Given the description of an element on the screen output the (x, y) to click on. 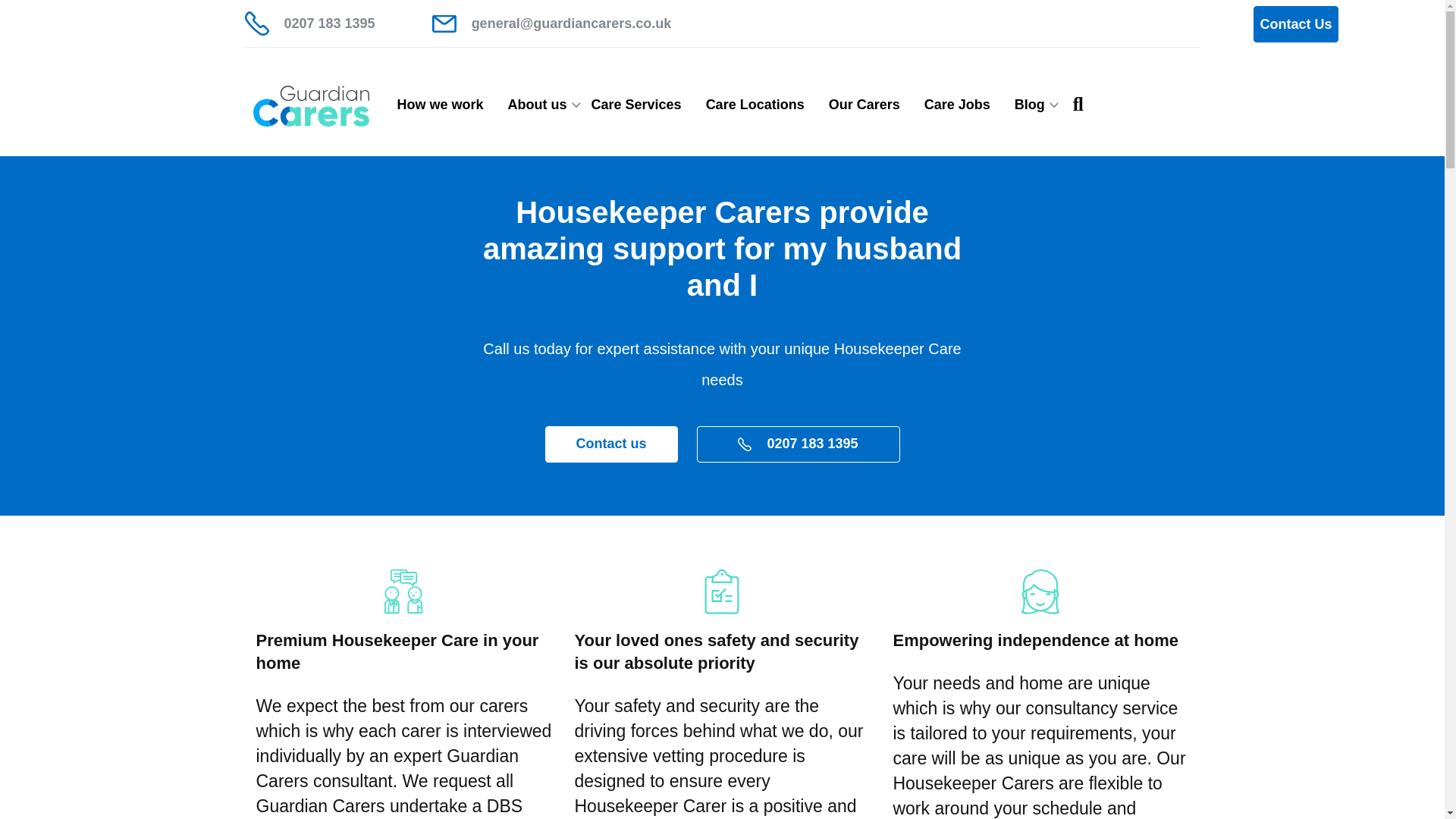
About us (537, 104)
Contact us (610, 443)
How we work (440, 104)
Care Jobs (957, 104)
Contact Us (1295, 23)
0207 183 1395 (309, 23)
0207 183 1395 (797, 443)
Care Locations (755, 104)
Care Services (636, 104)
Blog (1030, 104)
Our Carers (864, 104)
